Given the description of an element on the screen output the (x, y) to click on. 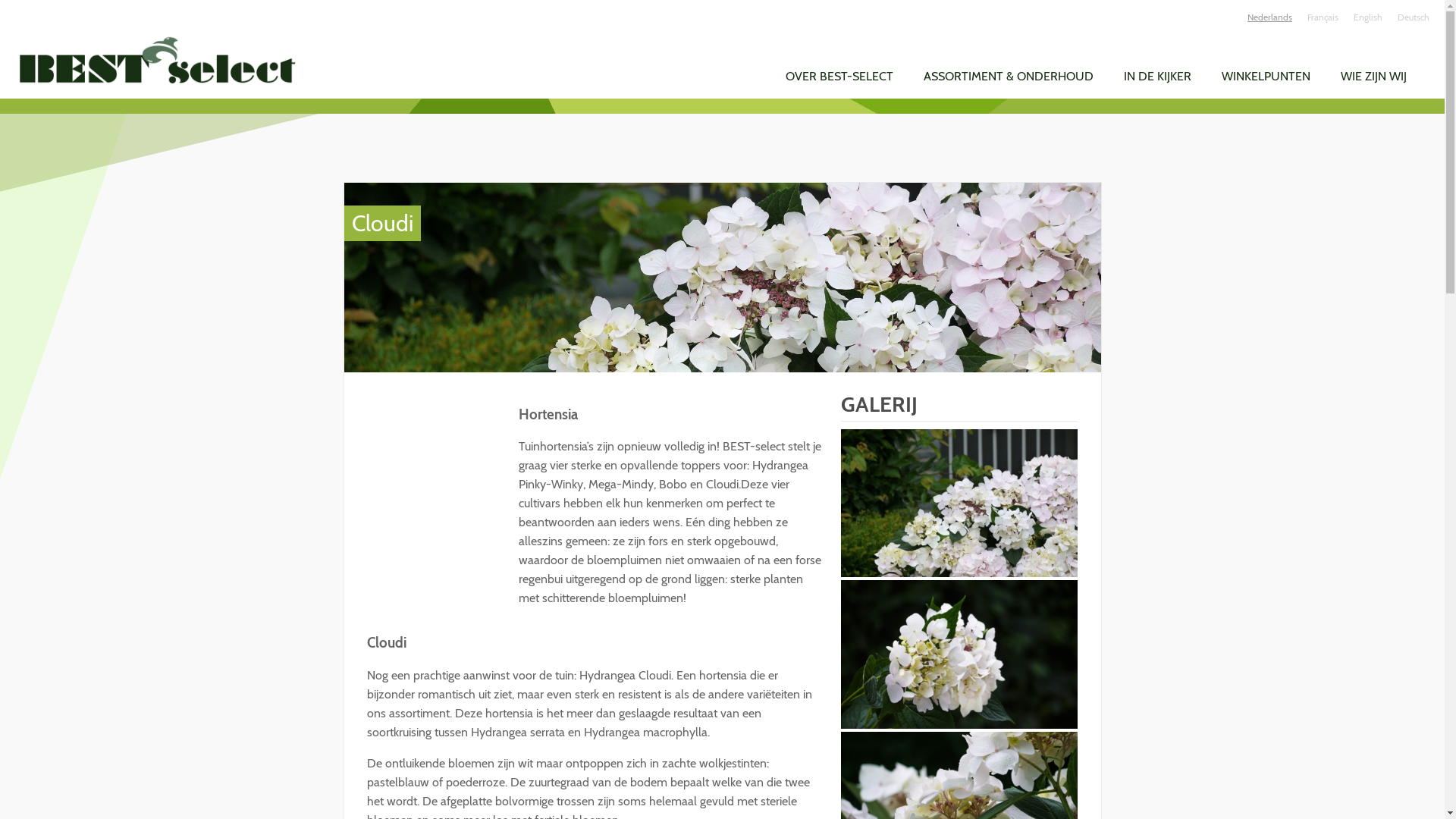
WIE ZIJN WIJ Element type: text (1373, 76)
English Element type: text (1367, 16)
WINKELPUNTEN Element type: text (1265, 76)
IN DE KIJKER Element type: text (1157, 76)
ASSORTIMENT & ONDERHOUD Element type: text (1008, 76)
Deutsch Element type: text (1413, 16)
OVER BEST-SELECT Element type: text (839, 76)
